Given the description of an element on the screen output the (x, y) to click on. 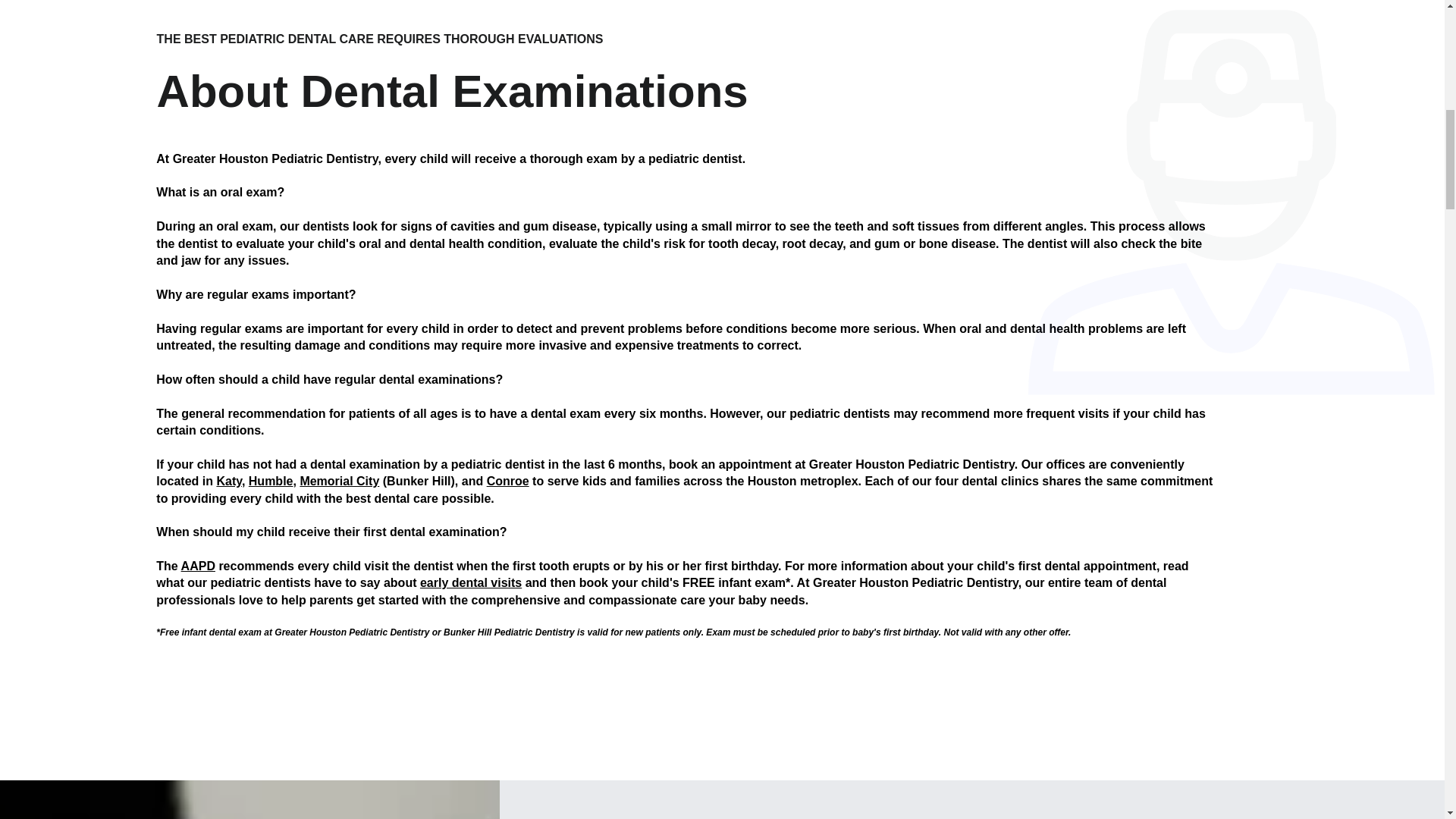
Memorial City (338, 481)
Humble (271, 481)
Katy (228, 481)
AAPD (197, 565)
early dental visits (470, 582)
Conroe (507, 481)
